Given the description of an element on the screen output the (x, y) to click on. 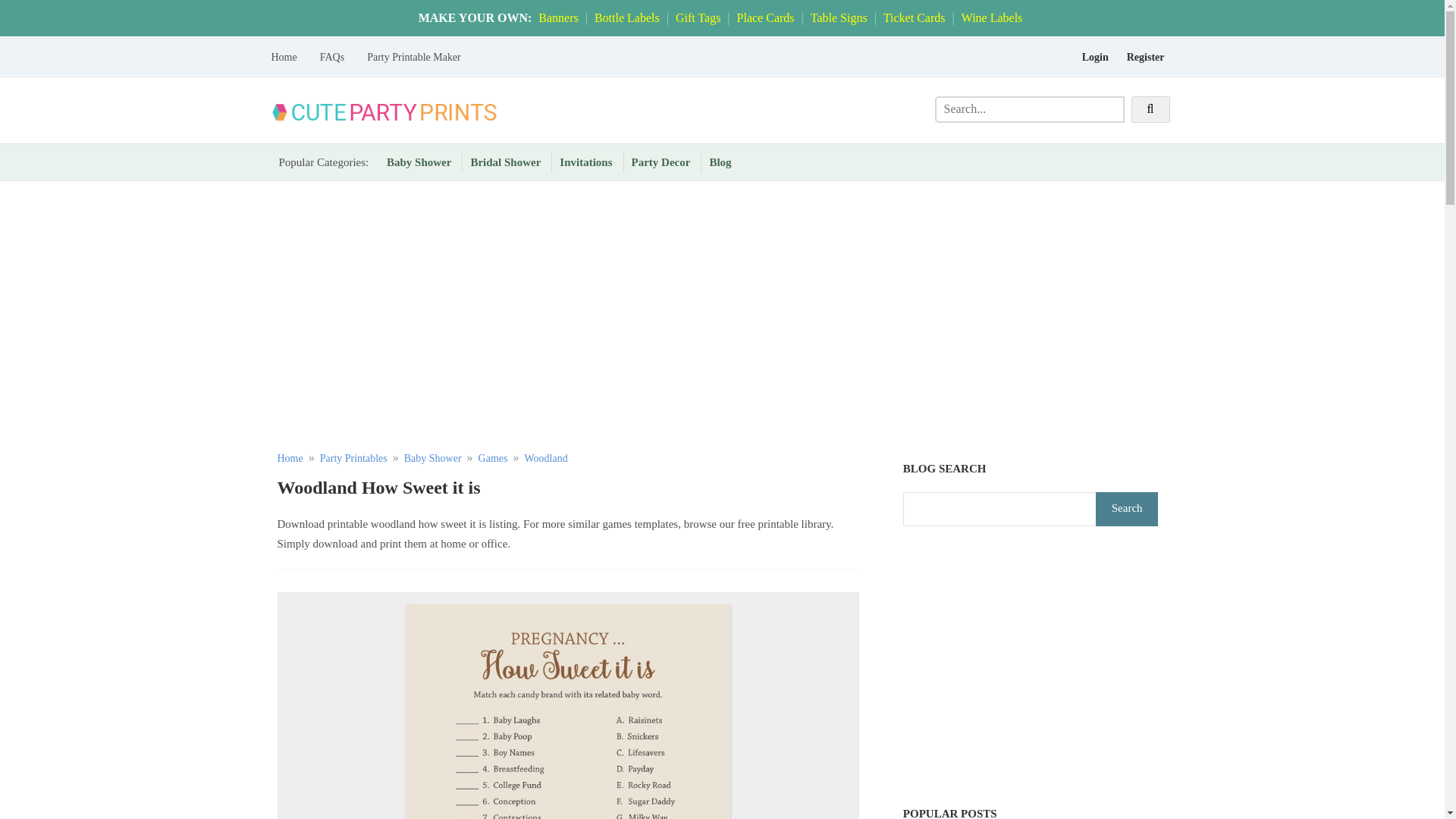
Games (493, 458)
Party Decor (661, 162)
Table Signs (838, 17)
Wine Labels (991, 17)
Blog (719, 162)
Invitations (585, 162)
Bottle Labels (626, 17)
Baby Shower (432, 458)
Cute Party Prints (311, 152)
Party Printables (353, 458)
Place Cards (765, 17)
Ticket Cards (913, 17)
Gift Tags (697, 17)
Bridal Shower (505, 162)
